Given the description of an element on the screen output the (x, y) to click on. 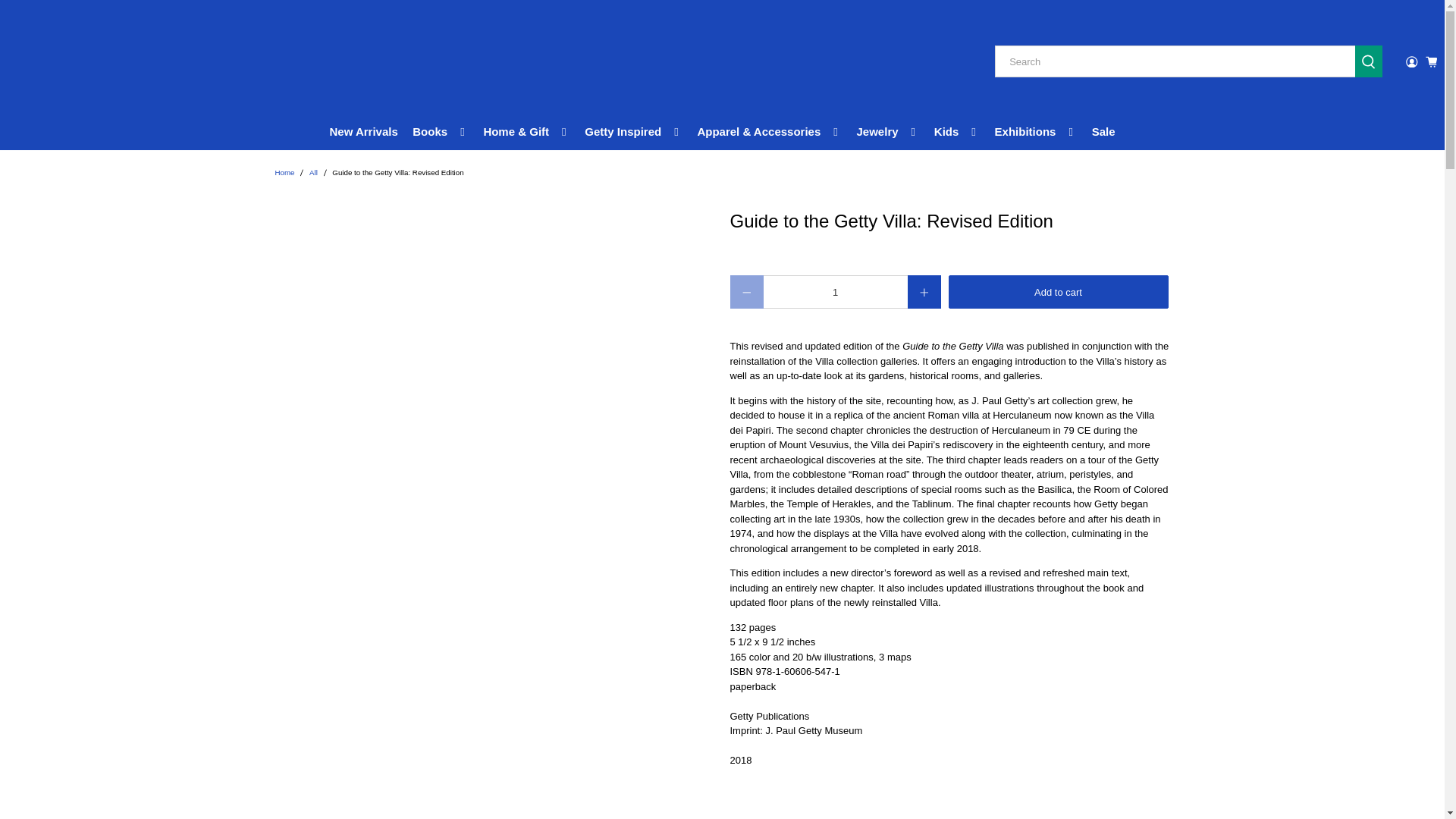
Getty Museum Store (284, 172)
New Arrivals (363, 131)
1 (834, 291)
Books (441, 131)
Getty Inspired (634, 131)
Getty Museum Store (82, 61)
